Given the description of an element on the screen output the (x, y) to click on. 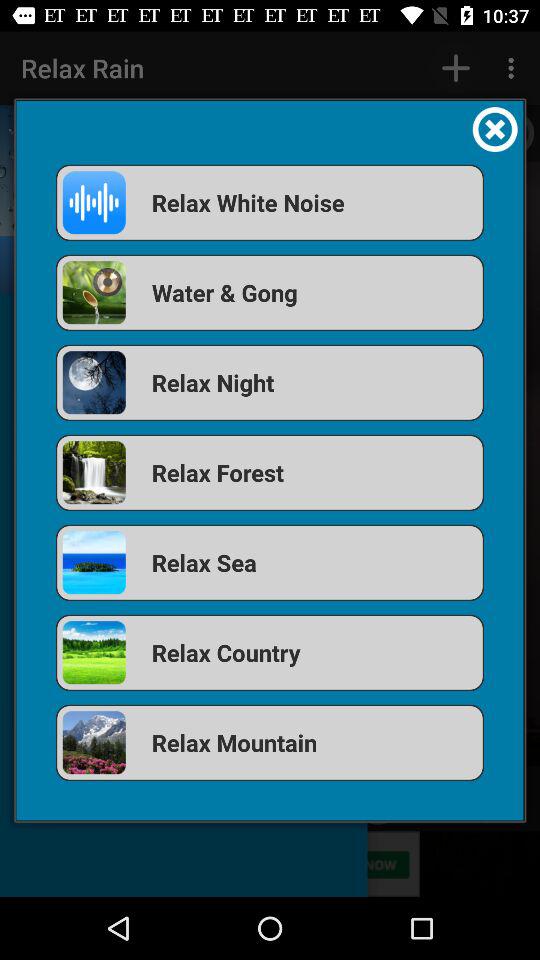
open the relax white noise icon (269, 202)
